Given the description of an element on the screen output the (x, y) to click on. 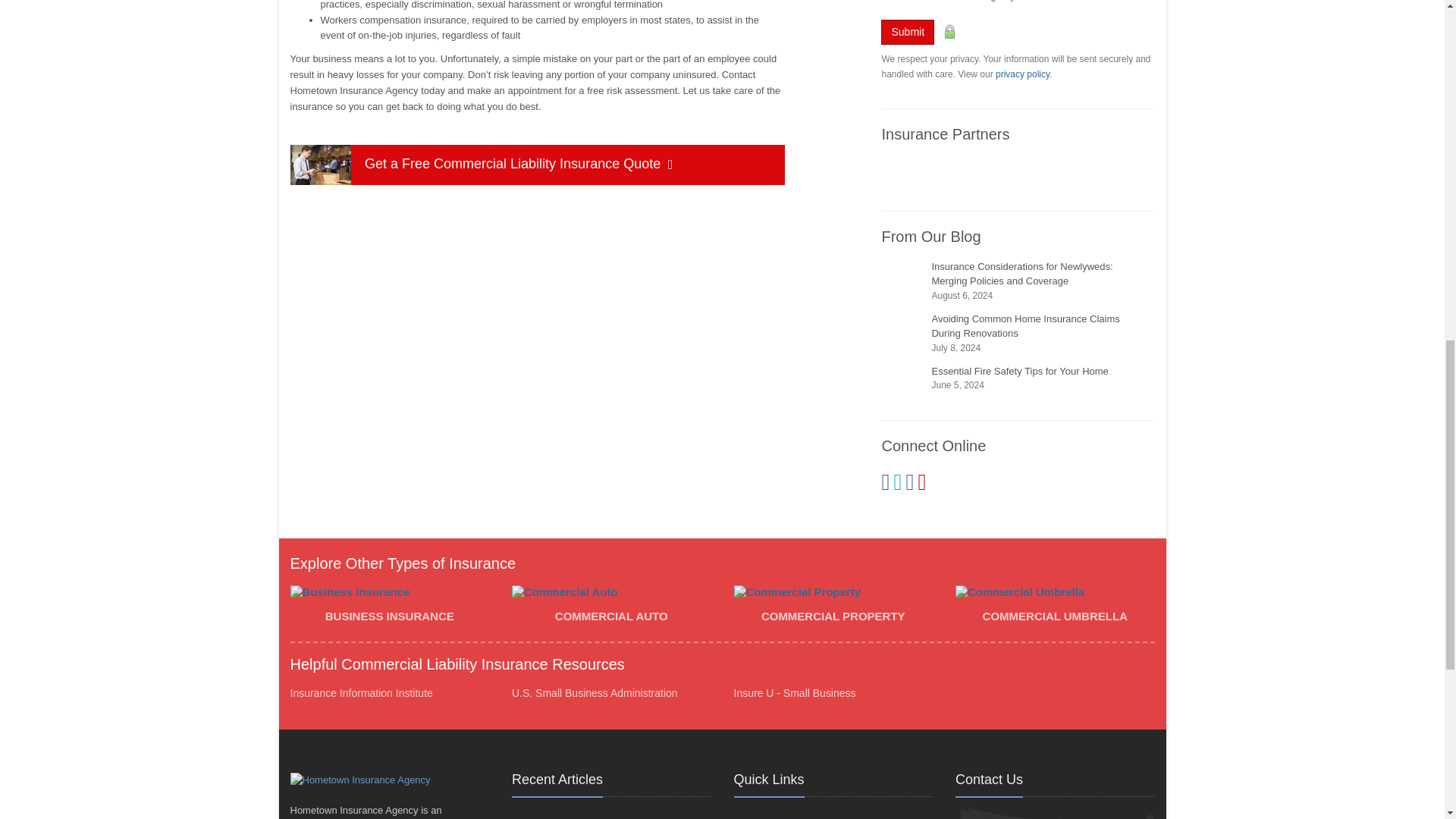
U.S. Small Business Administration (595, 693)
COMMERCIAL AUTO (611, 607)
Get a Free Commercial Liability Insurance Quote (536, 164)
BUSINESS INSURANCE (389, 607)
Insure U - Small Business (794, 693)
Insurance Information Institute (360, 693)
